Given the description of an element on the screen output the (x, y) to click on. 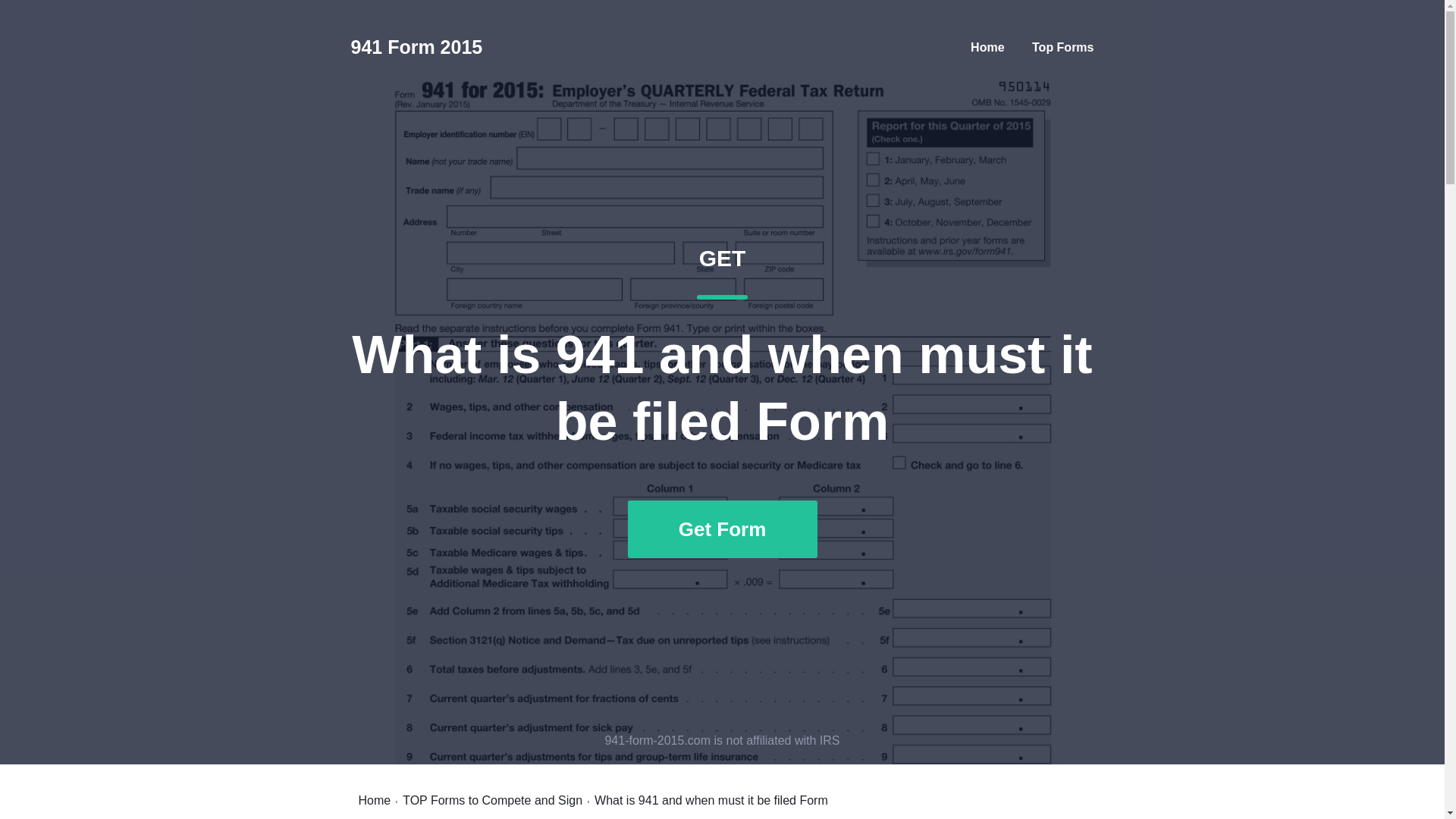
941 Form 2015 (415, 46)
TOP Forms to Compete and Sign (987, 47)
Home (492, 800)
Top Forms (374, 800)
